Given the description of an element on the screen output the (x, y) to click on. 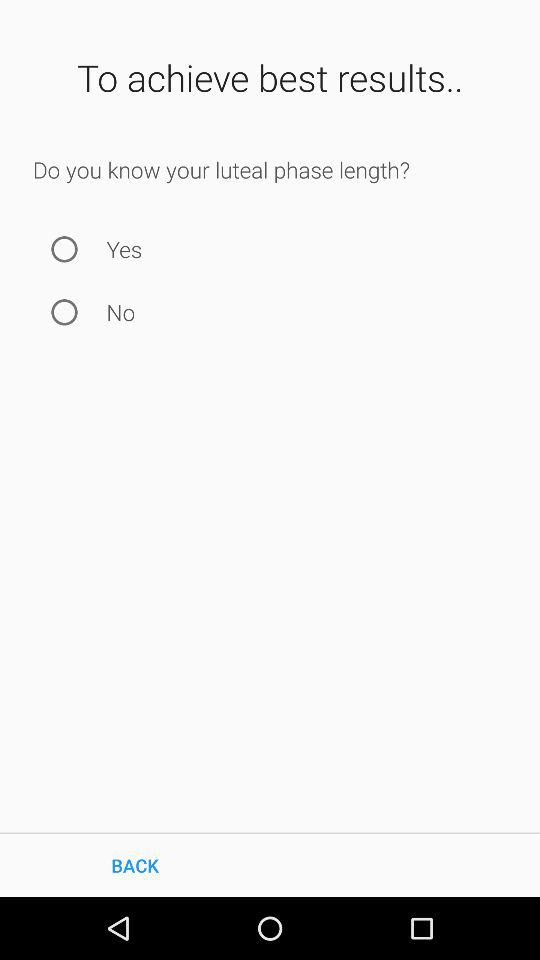
press the icon next to the yes icon (64, 248)
